Given the description of an element on the screen output the (x, y) to click on. 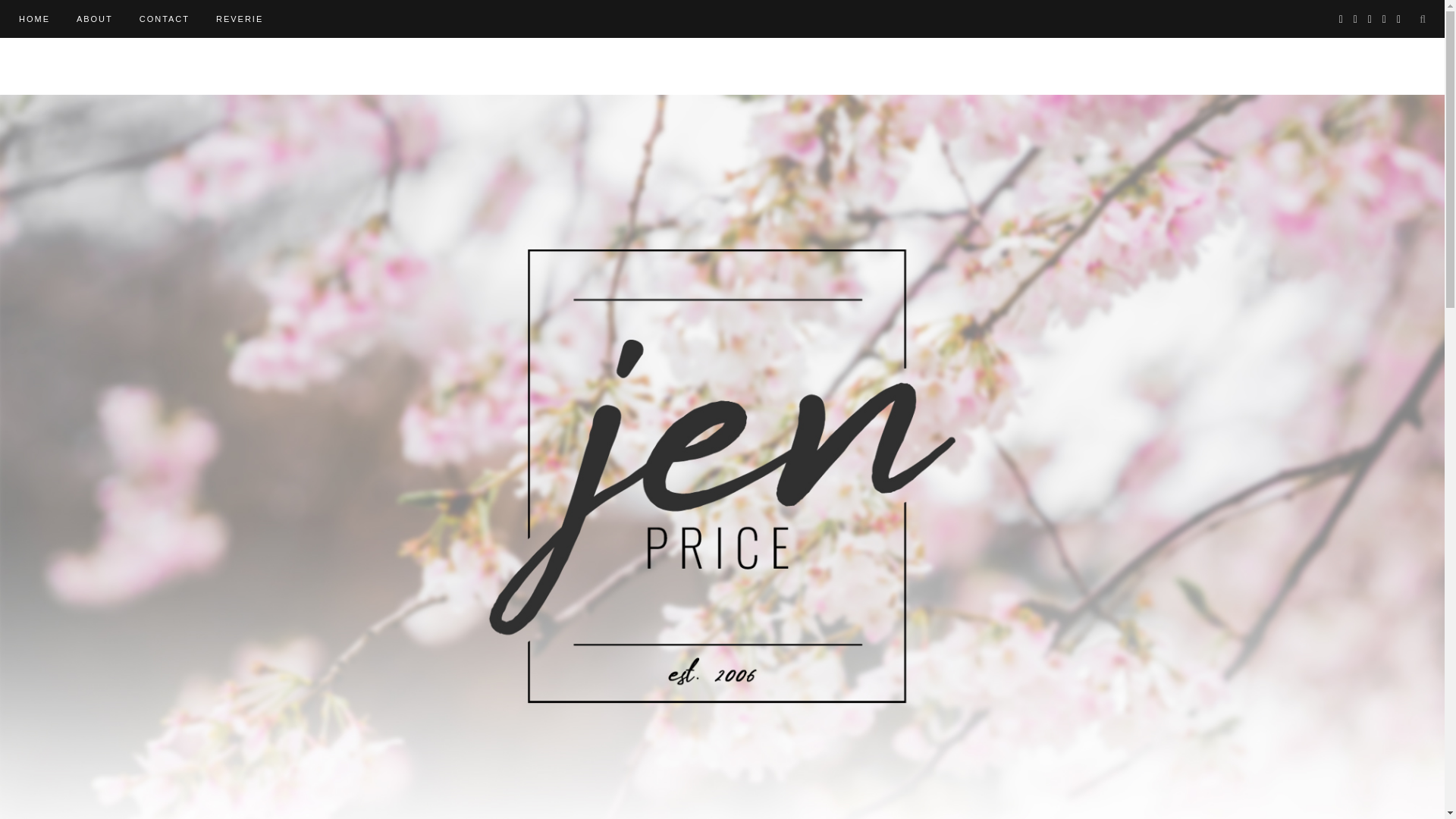
ABOUT (95, 18)
CONTACT (164, 18)
REVERIE (239, 18)
